Given the description of an element on the screen output the (x, y) to click on. 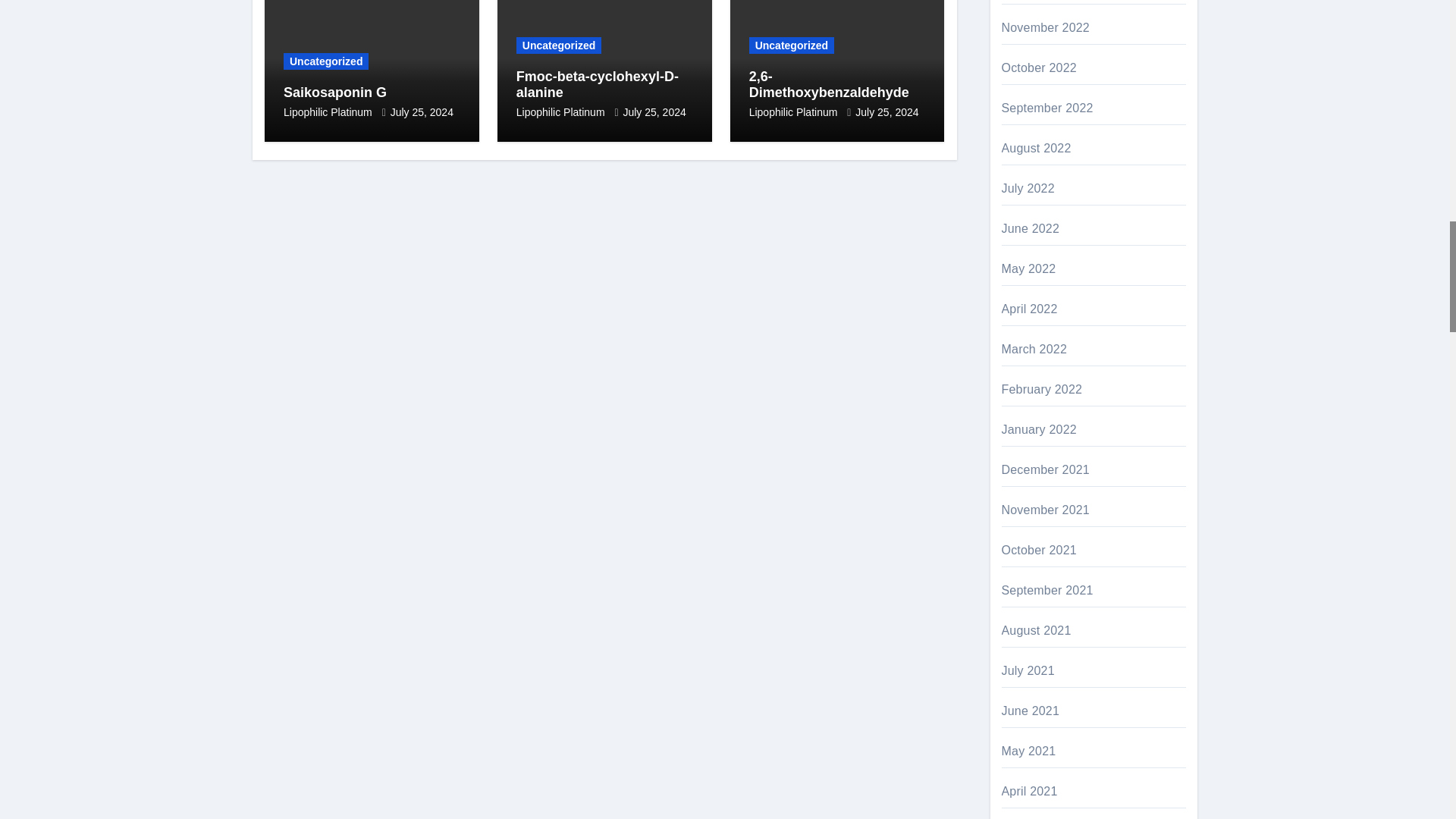
Permalink to: Fmoc-beta-cyclohexyl-D-alanine (597, 84)
Saikosaponin G (335, 92)
Uncategorized (325, 61)
Permalink to: Saikosaponin G (335, 92)
Lipophilic Platinum (329, 111)
Permalink to: 2,6-Dimethoxybenzaldehyde (828, 84)
